Given the description of an element on the screen output the (x, y) to click on. 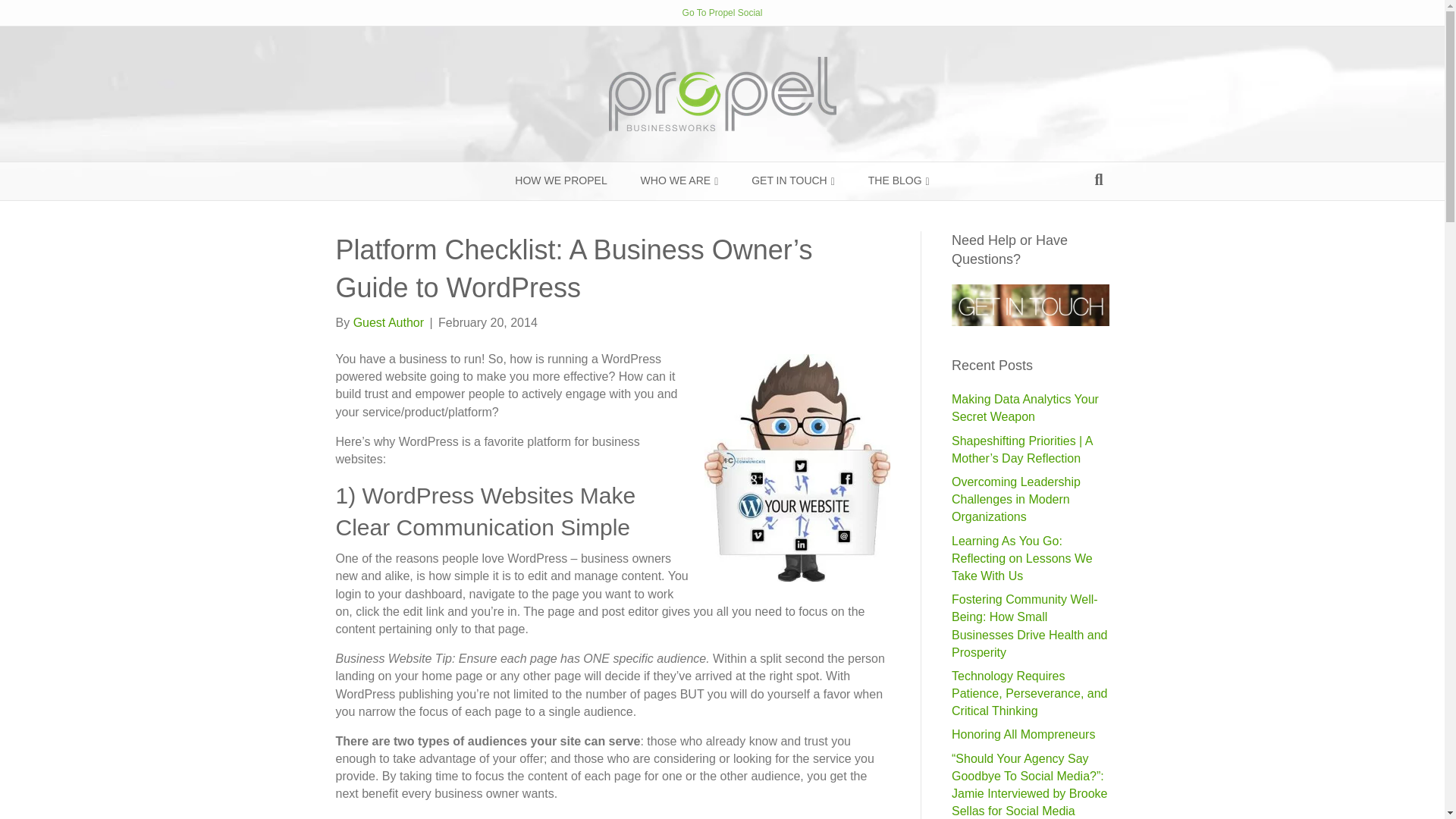
Go To Propel Social (722, 12)
HOW WE PROPEL (560, 180)
GET IN TOUCH (793, 180)
WHO WE ARE (679, 180)
THE BLOG (898, 180)
Guest Author (388, 322)
